Given the description of an element on the screen output the (x, y) to click on. 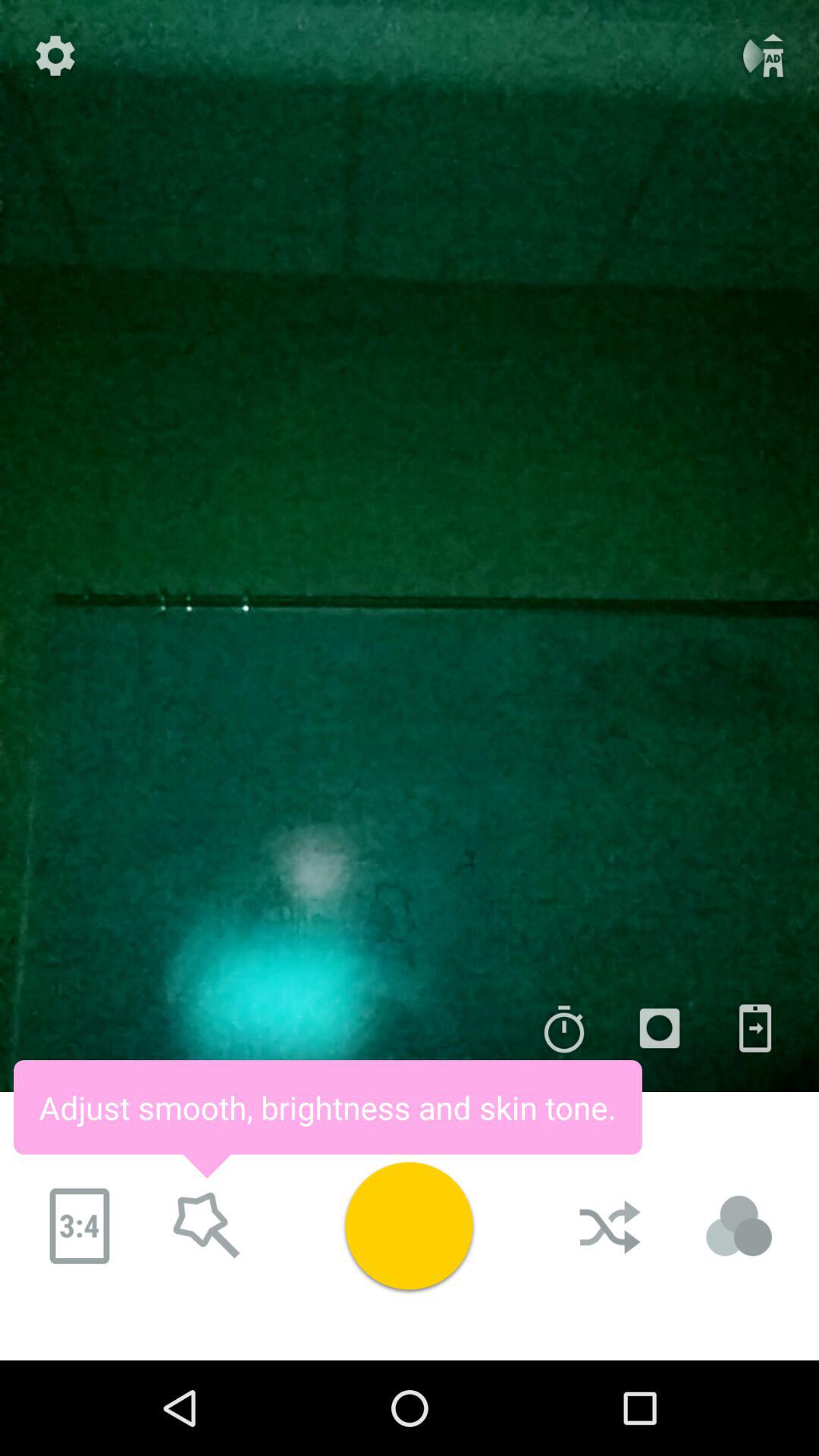
take picture (408, 1225)
